Given the description of an element on the screen output the (x, y) to click on. 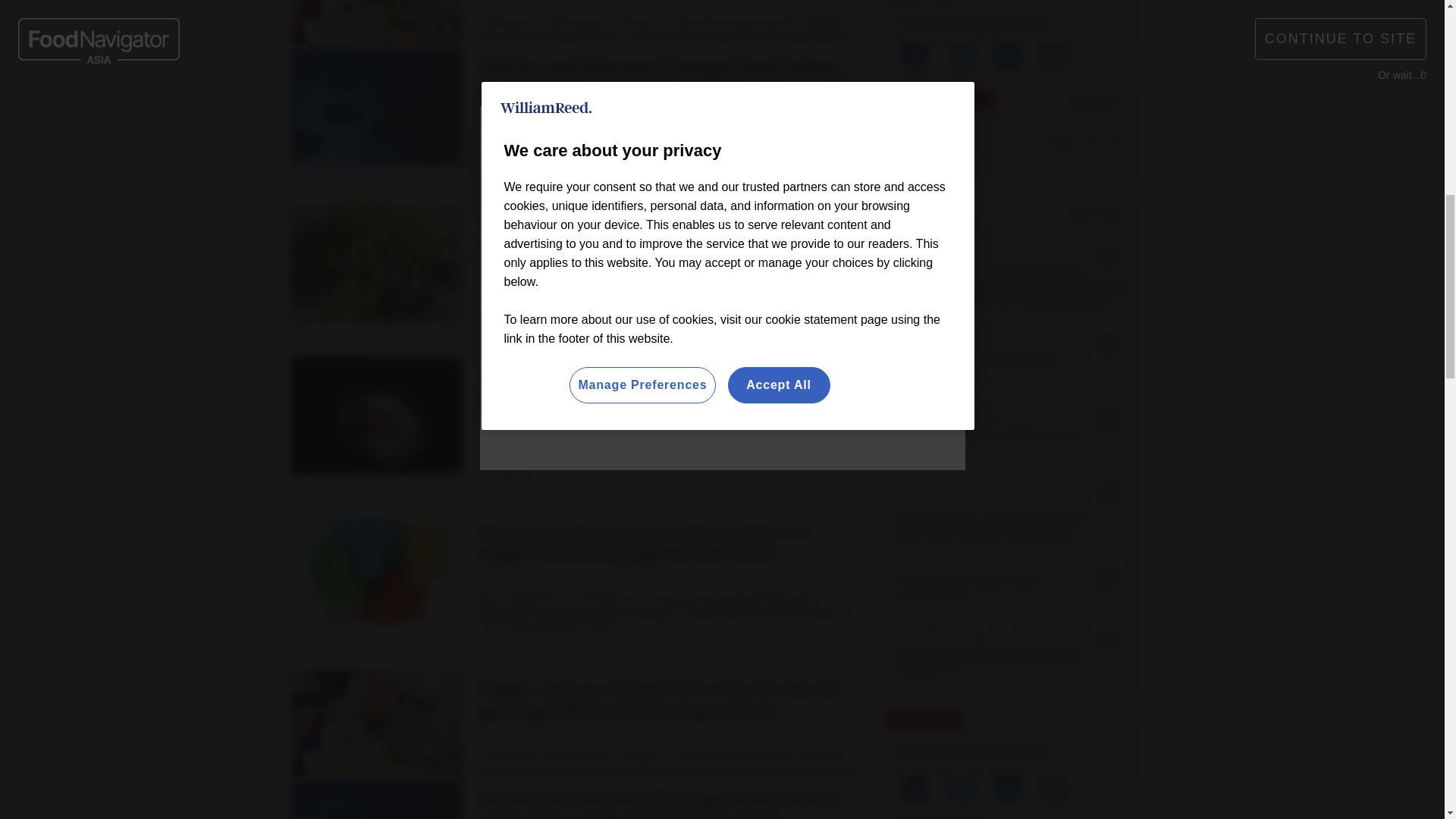
3rd party ad content (570, 417)
